Given the description of an element on the screen output the (x, y) to click on. 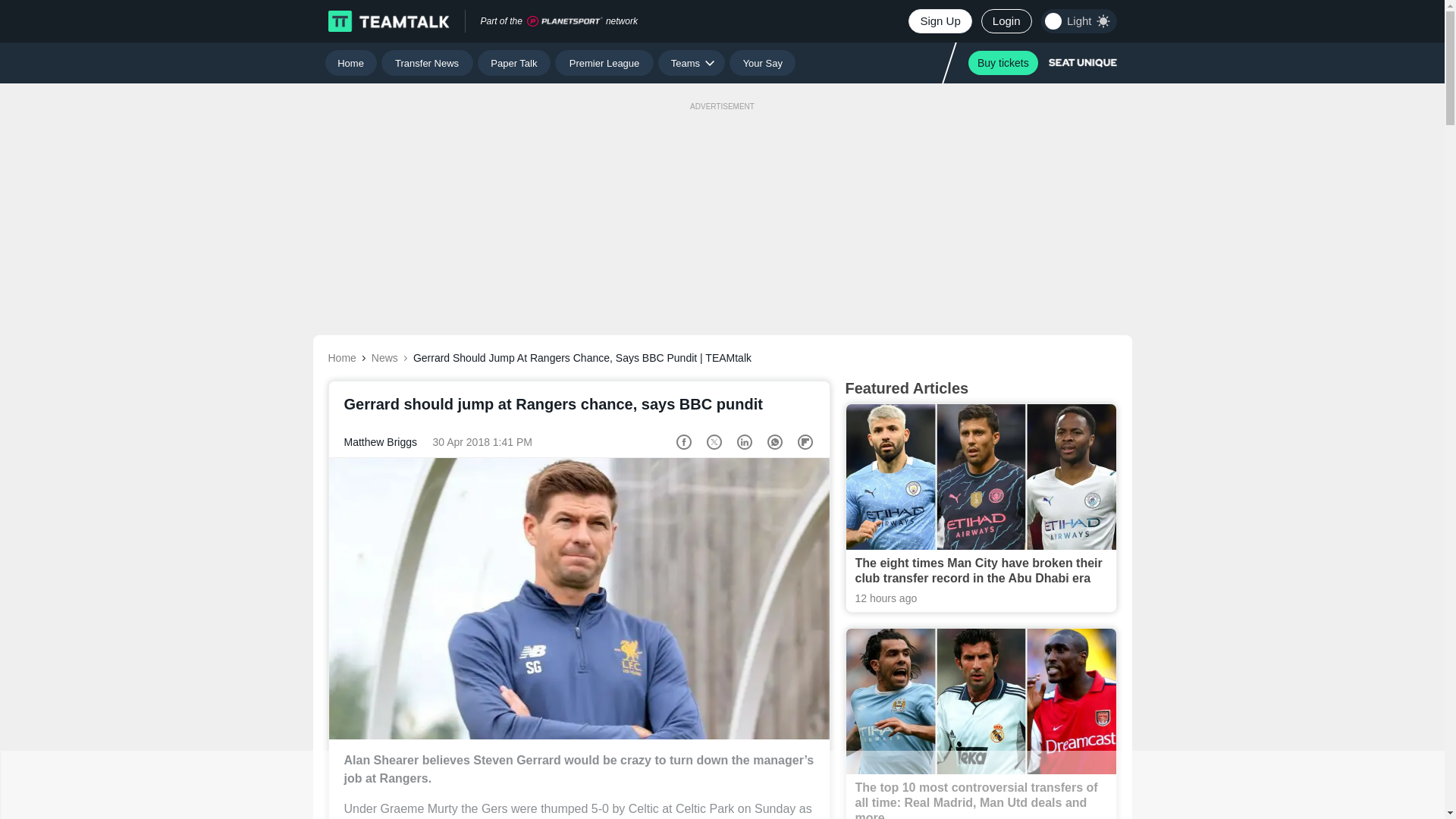
Login (1006, 21)
Paper Talk (514, 62)
Premier League (603, 62)
3rd party ad content (721, 203)
Posts by Matthew Briggs (379, 441)
Your Say (761, 62)
3rd party ad content (721, 785)
Transfer News (427, 62)
Teams (691, 62)
Home (349, 62)
Sign Up (939, 21)
Buy tickets (1003, 62)
